Given the description of an element on the screen output the (x, y) to click on. 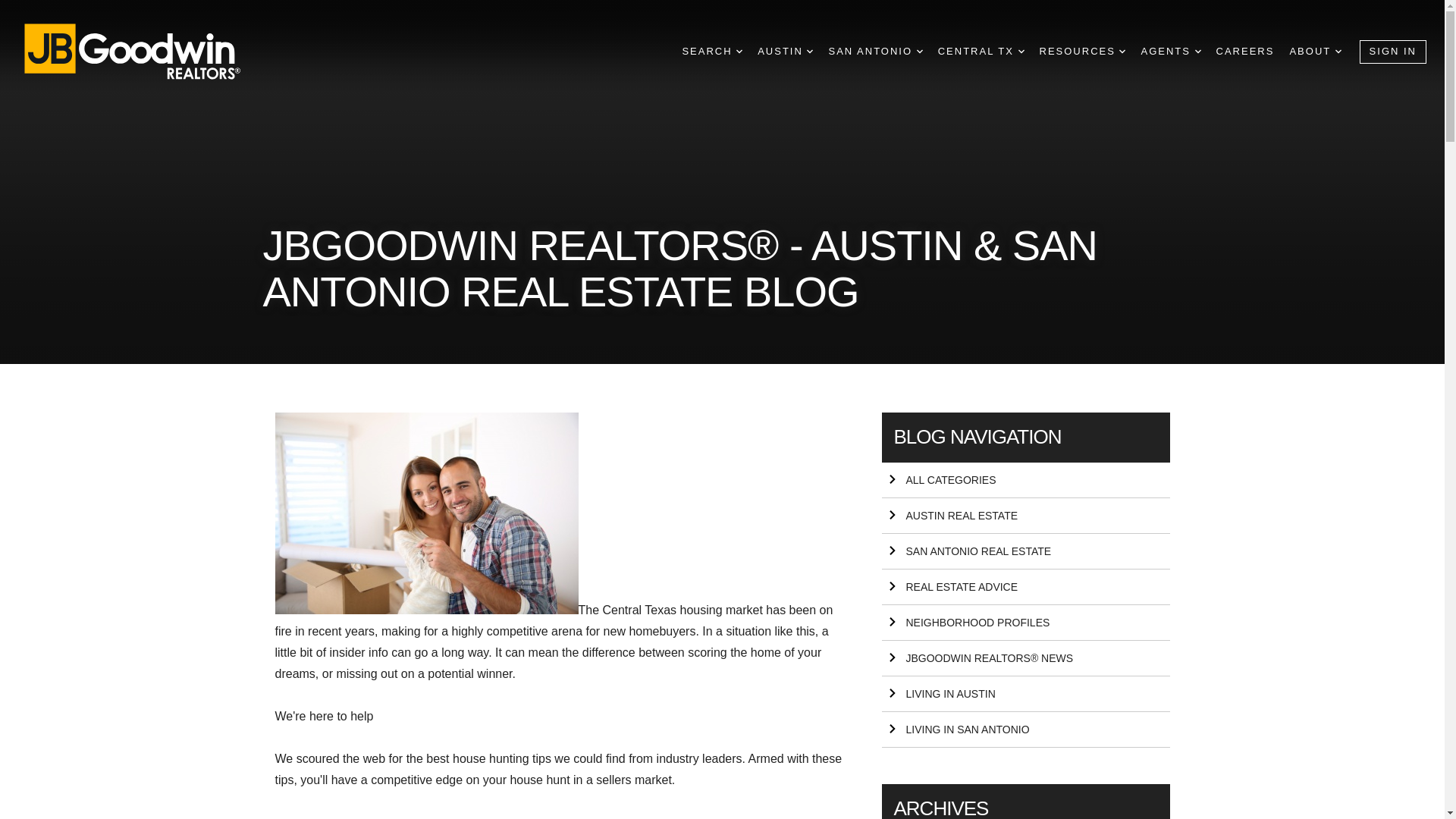
AUSTIN DROPDOWN ARROW (784, 51)
House Hunting Tips From The Experts (426, 513)
DROPDOWN ARROW (1021, 51)
DROPDOWN ARROW (1122, 51)
SEARCH DROPDOWN ARROW (711, 51)
DROPDOWN ARROW (1198, 51)
DROPDOWN ARROW (739, 51)
DROPDOWN ARROW (1337, 51)
DROPDOWN ARROW (920, 51)
SAN ANTONIO DROPDOWN ARROW (874, 51)
DROPDOWN ARROW (809, 51)
CENTRAL TX DROPDOWN ARROW (981, 51)
RESOURCES DROPDOWN ARROW (1082, 51)
